Given the description of an element on the screen output the (x, y) to click on. 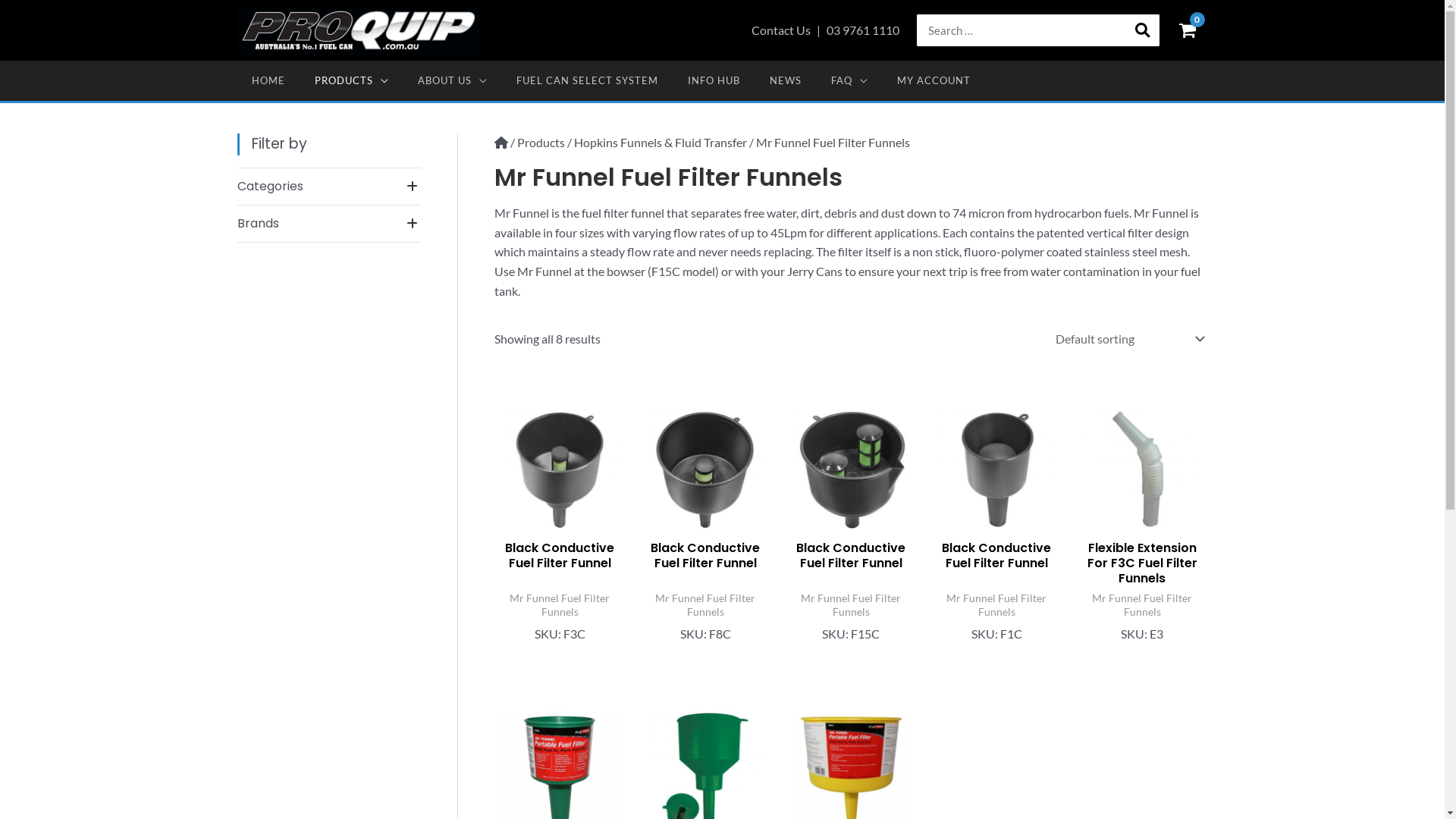
Flexible Extension For F3C Fuel Filter Funnels Element type: text (1141, 566)
Search Element type: text (1142, 30)
PRODUCTS Element type: text (351, 80)
FUEL CAN SELECT SYSTEM Element type: text (587, 80)
Contact Us Element type: text (780, 29)
03 9761 1110 Element type: text (862, 29)
ABOUT US Element type: text (452, 80)
Products Element type: text (540, 141)
Black Conductive Fuel Filter Funnel Element type: text (850, 558)
NEWS Element type: text (785, 80)
Hopkins Funnels & Fluid Transfer Element type: text (660, 141)
FAQ Element type: text (848, 80)
Black Conductive Fuel Filter Funnel Element type: text (705, 558)
MY ACCOUNT Element type: text (933, 80)
Black Conductive Fuel Filter Funnel Element type: text (559, 558)
INFO HUB Element type: text (714, 80)
HOME Element type: text (267, 80)
Black Conductive Fuel Filter Funnel Element type: text (996, 558)
